Given the description of an element on the screen output the (x, y) to click on. 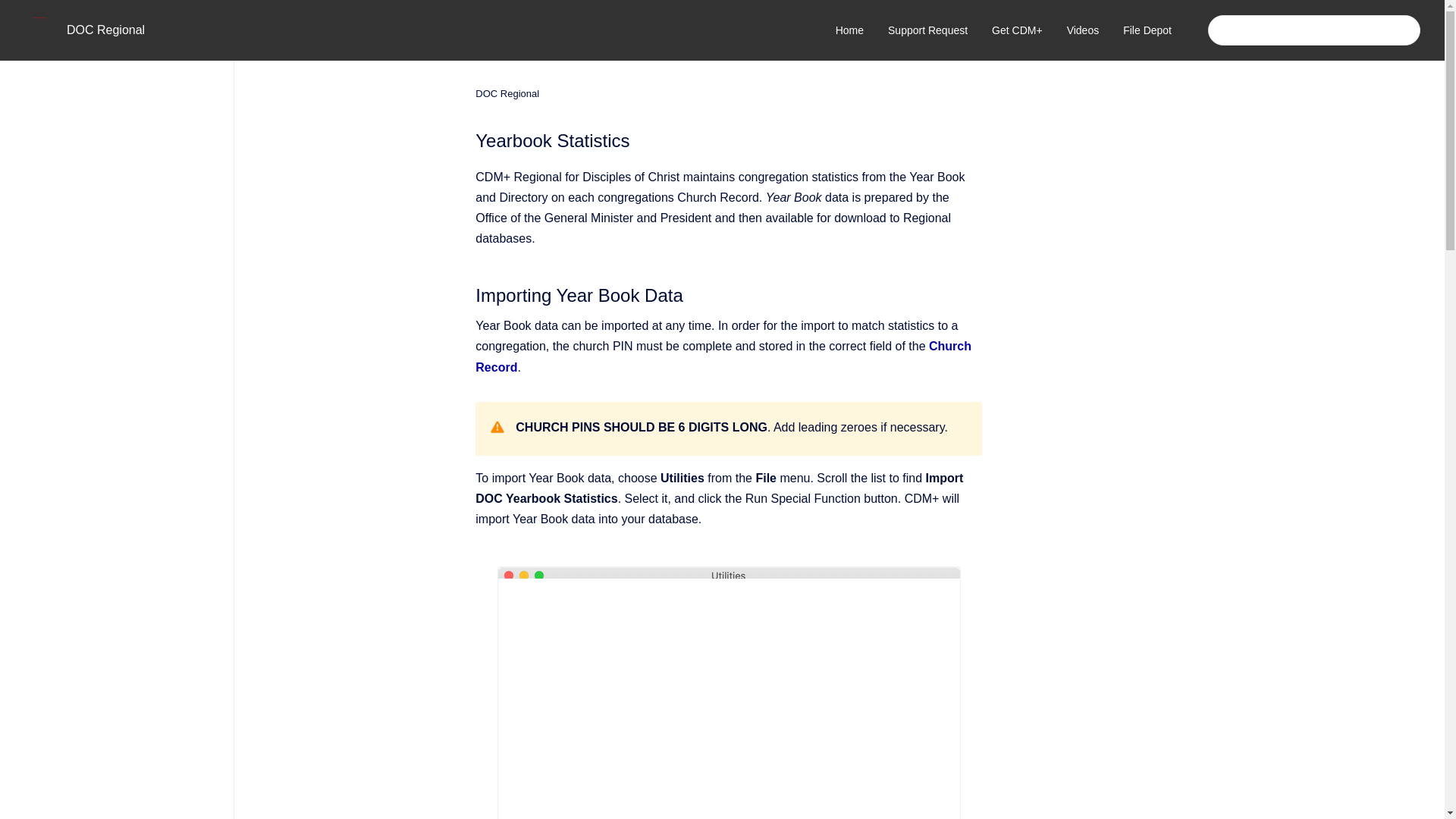
Church Record (723, 356)
Home (850, 30)
Go to homepage (39, 30)
Support Request (927, 30)
DOC Regional (105, 29)
DOC Regional (507, 93)
File Depot (1146, 30)
Videos (1083, 30)
